Given the description of an element on the screen output the (x, y) to click on. 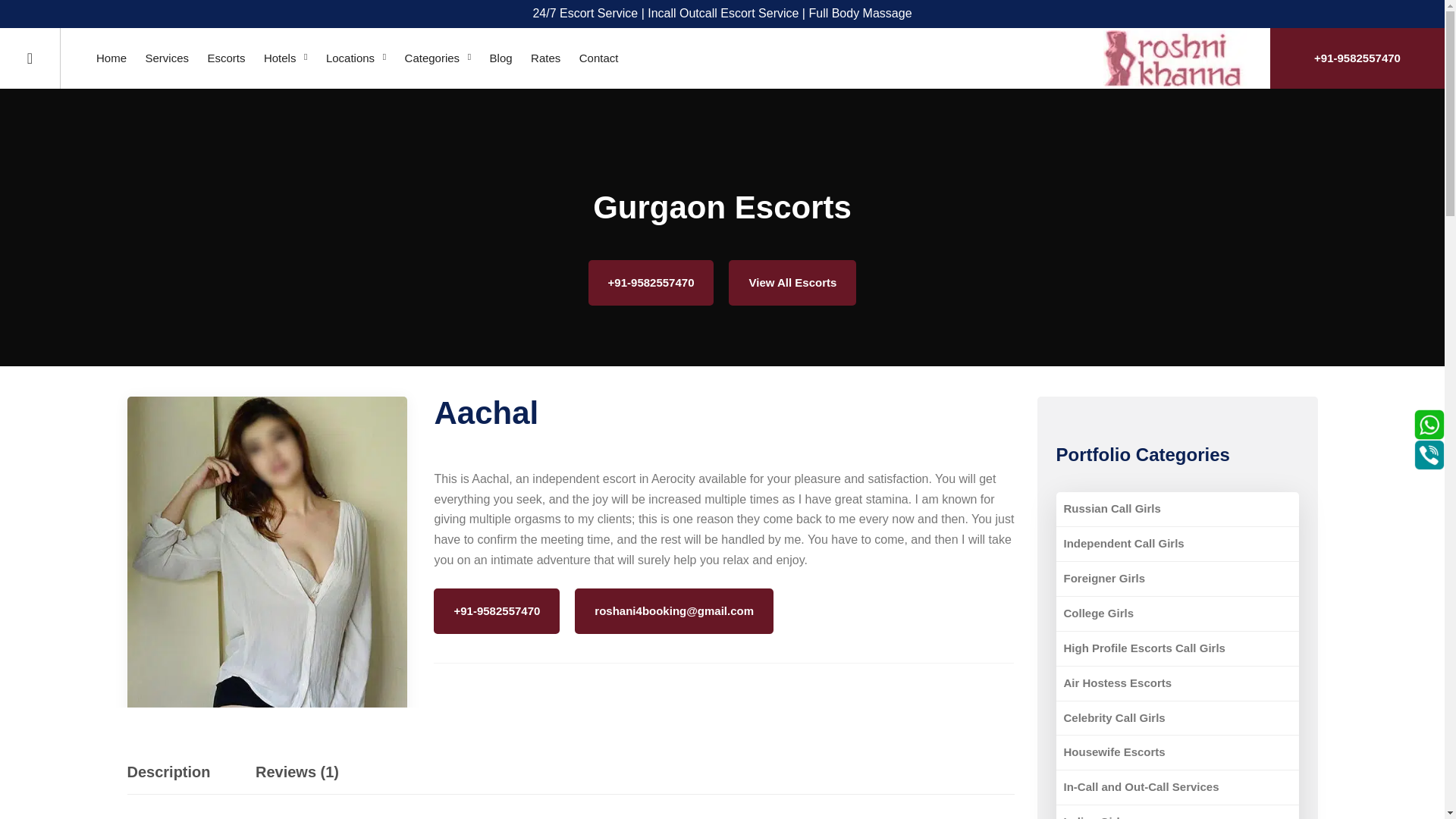
Hotels (285, 58)
Locations (355, 58)
Services (166, 58)
